Given the description of an element on the screen output the (x, y) to click on. 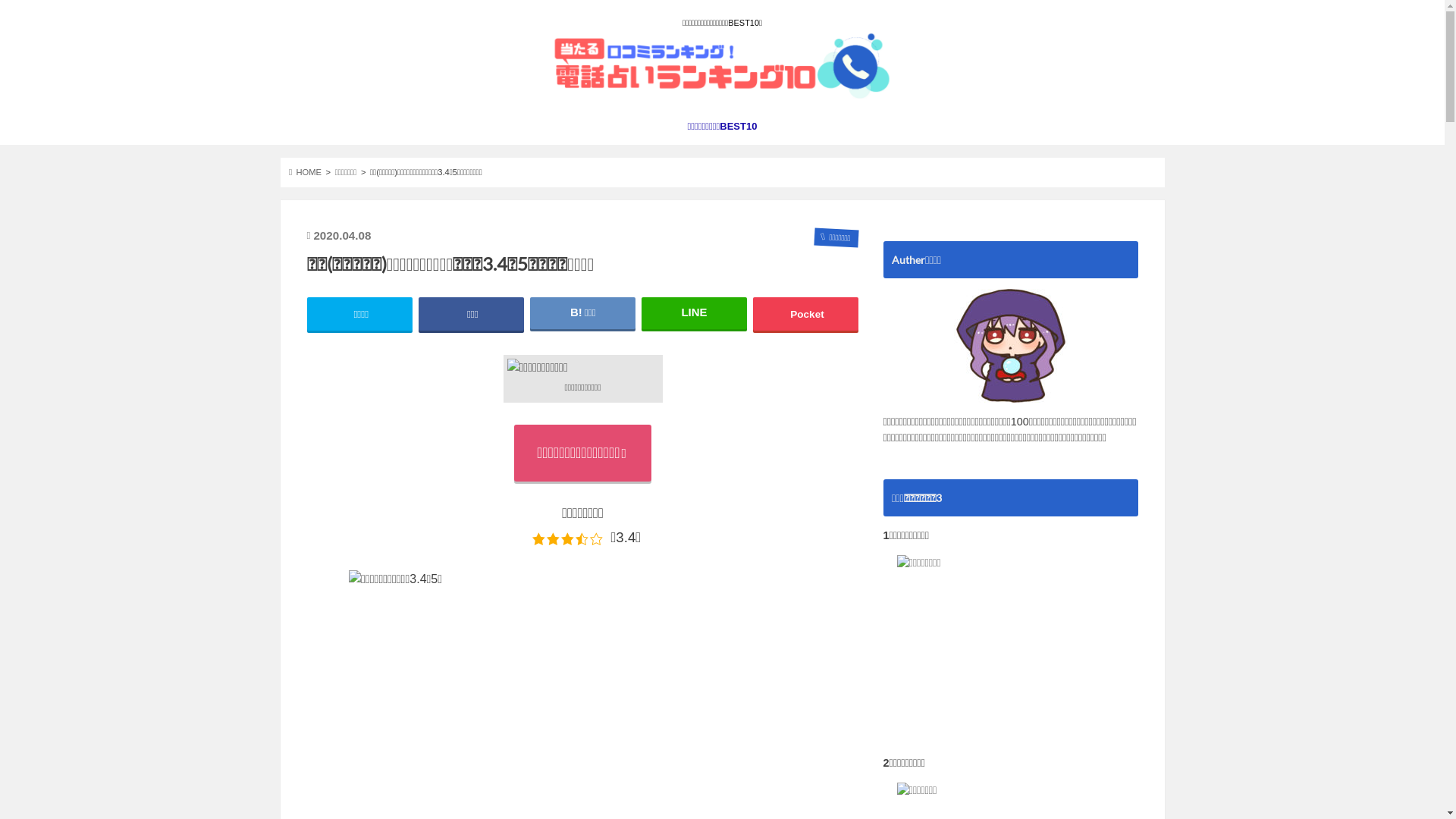
HOME Element type: text (304, 171)
Pocket Element type: text (806, 313)
